Given the description of an element on the screen output the (x, y) to click on. 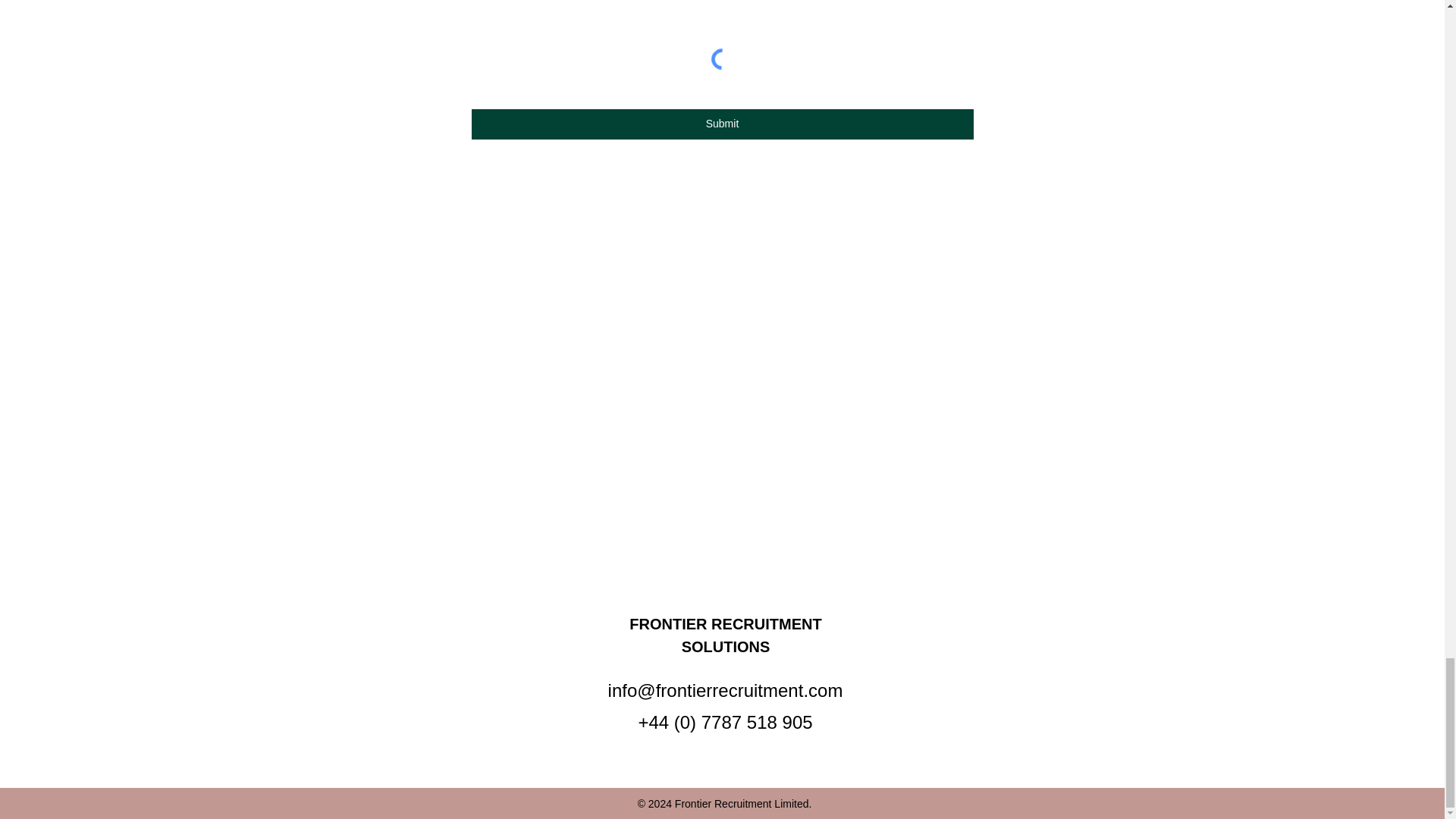
Submit (722, 123)
